Given the description of an element on the screen output the (x, y) to click on. 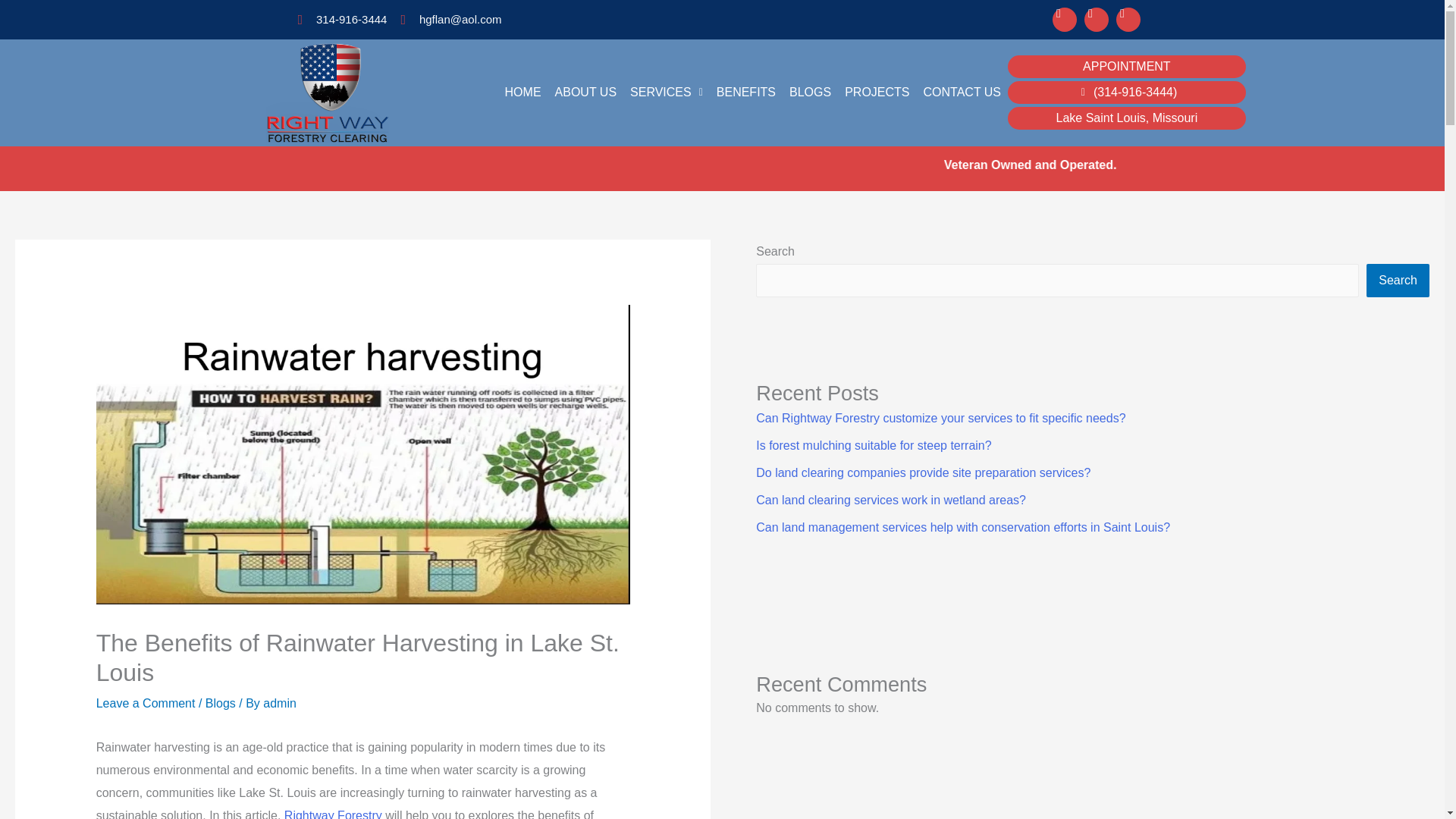
BLOGS (810, 92)
Rightway Forestry (332, 814)
314-916-3444 (342, 19)
Leave a Comment (145, 703)
Blogs (220, 703)
Search (1398, 280)
admin (280, 703)
PROJECTS (876, 92)
